Given the description of an element on the screen output the (x, y) to click on. 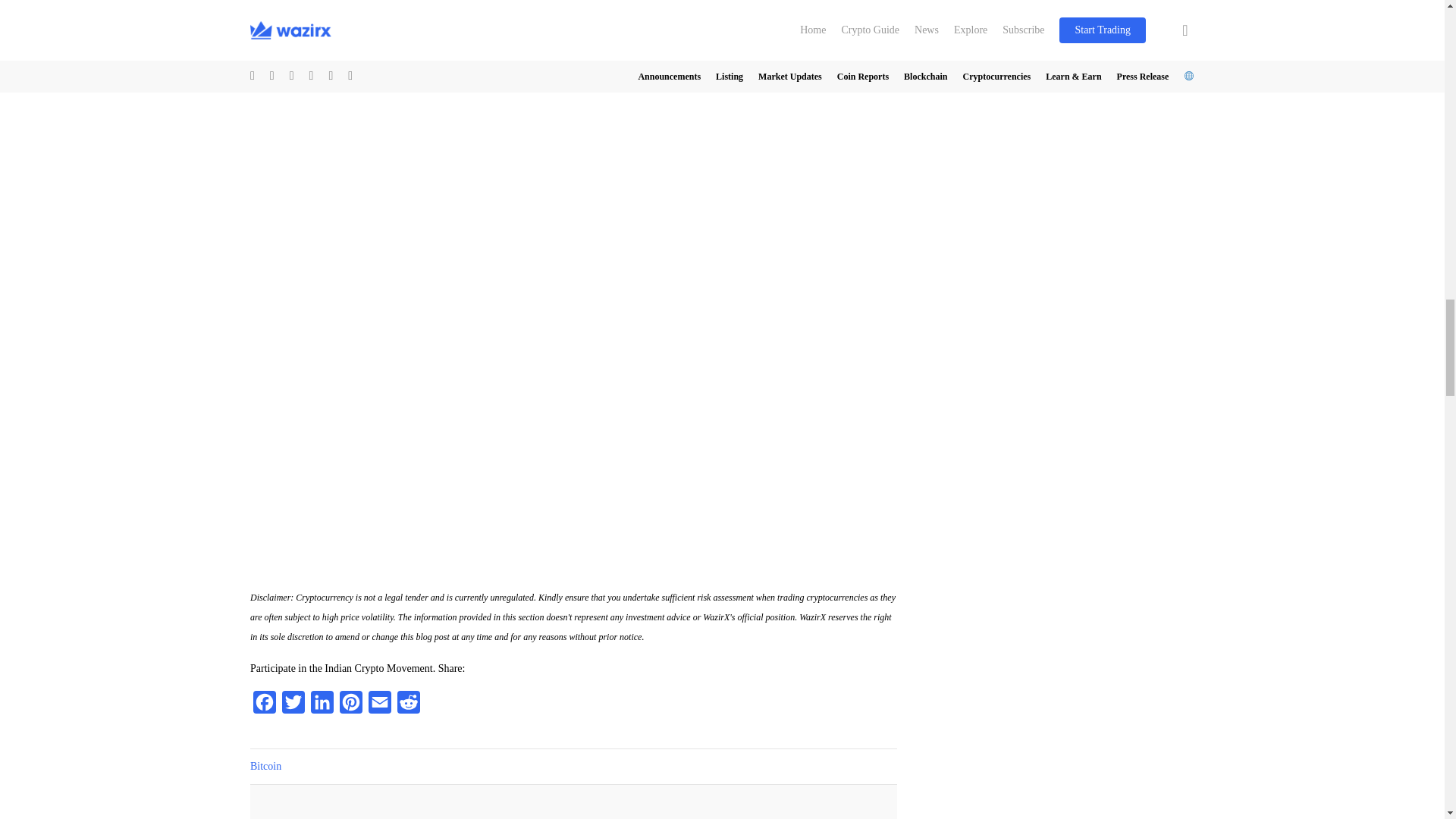
LinkedIn (321, 706)
Reddit (408, 706)
Email (379, 706)
Facebook (264, 706)
Twitter (293, 706)
Pinterest (350, 706)
